Given the description of an element on the screen output the (x, y) to click on. 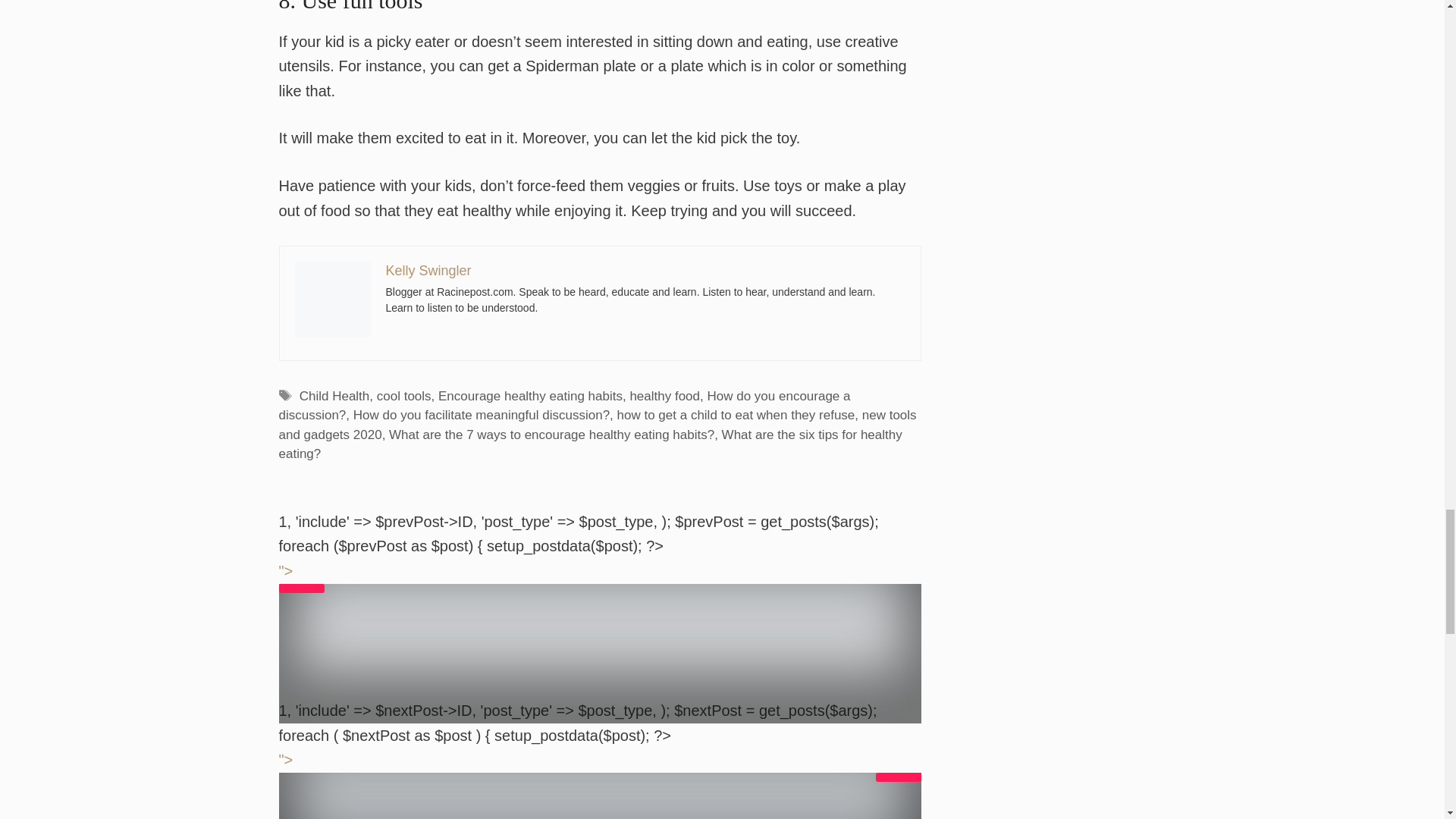
What are the six tips for healthy eating? (590, 444)
How do you facilitate meaningful discussion? (481, 414)
What are the 7 ways to encourage healthy eating habits? (551, 434)
cool tools (403, 396)
new tools and gadgets 2020 (598, 424)
Encourage healthy eating habits (530, 396)
healthy food (664, 396)
How do you encourage a discussion? (564, 406)
how to get a child to eat when they refuse (736, 414)
Child Health (334, 396)
Kelly Swingler (427, 270)
